Given the description of an element on the screen output the (x, y) to click on. 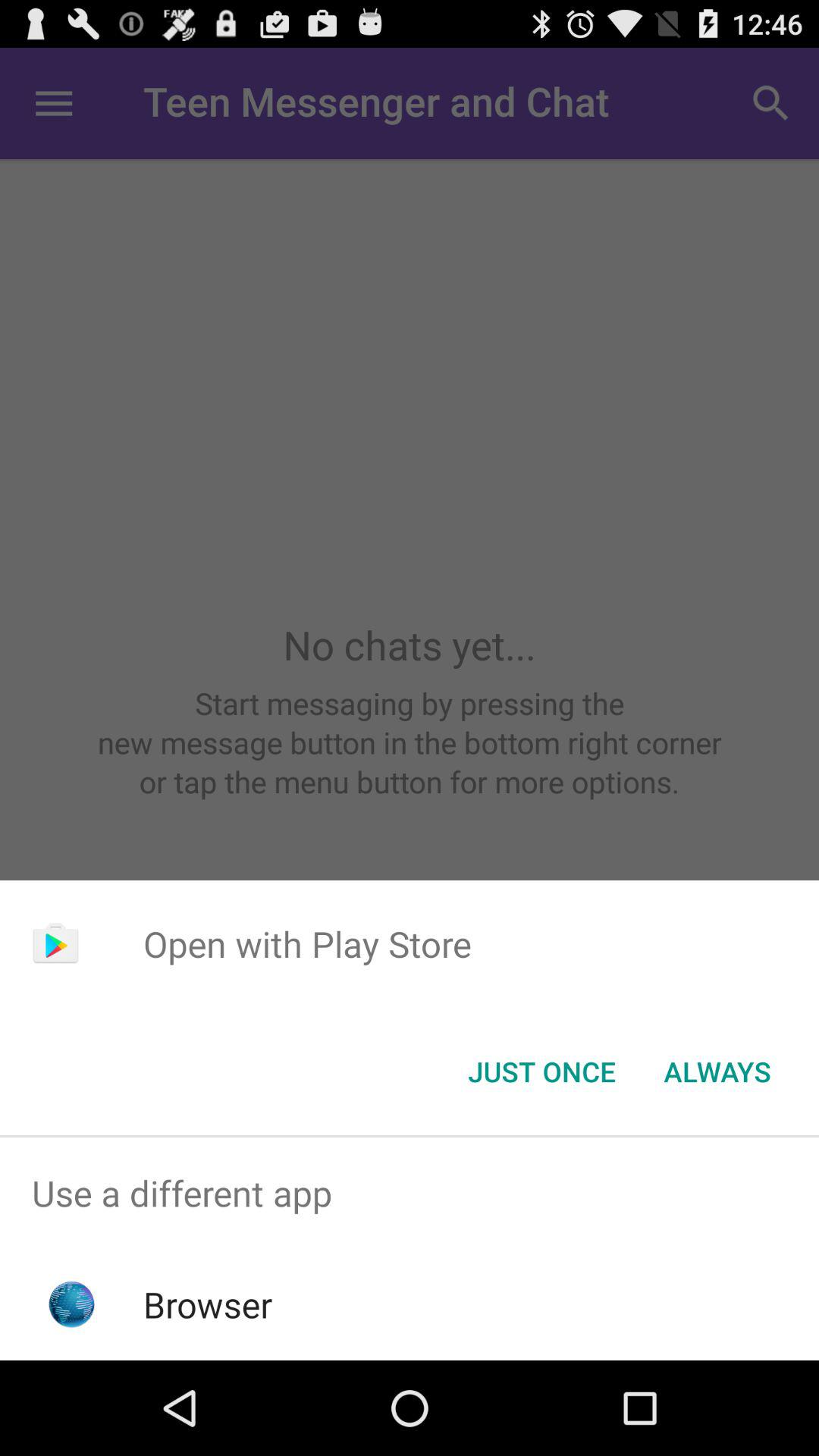
flip to the browser item (207, 1304)
